Given the description of an element on the screen output the (x, y) to click on. 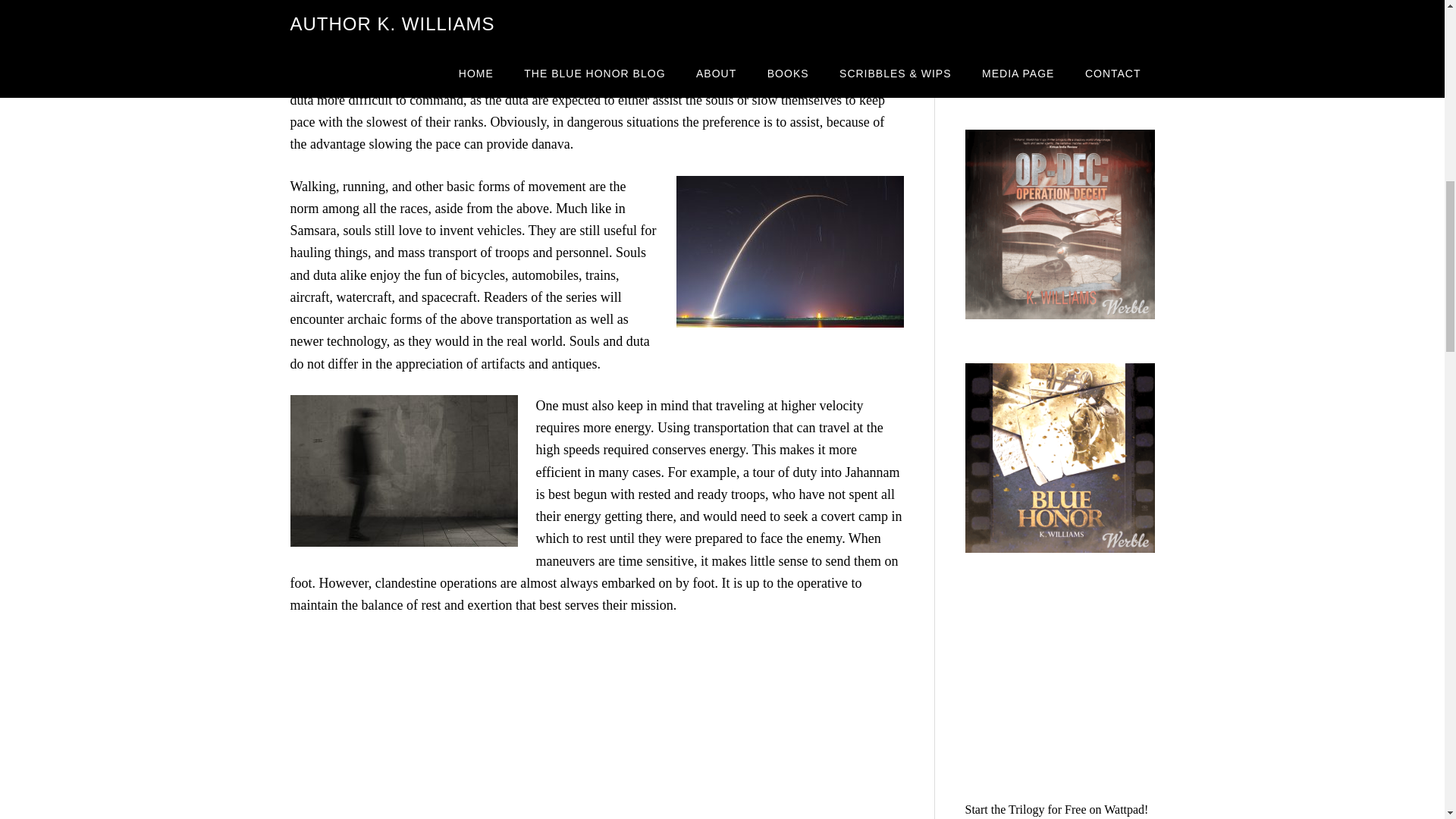
Subscribe (1015, 22)
